Given the description of an element on the screen output the (x, y) to click on. 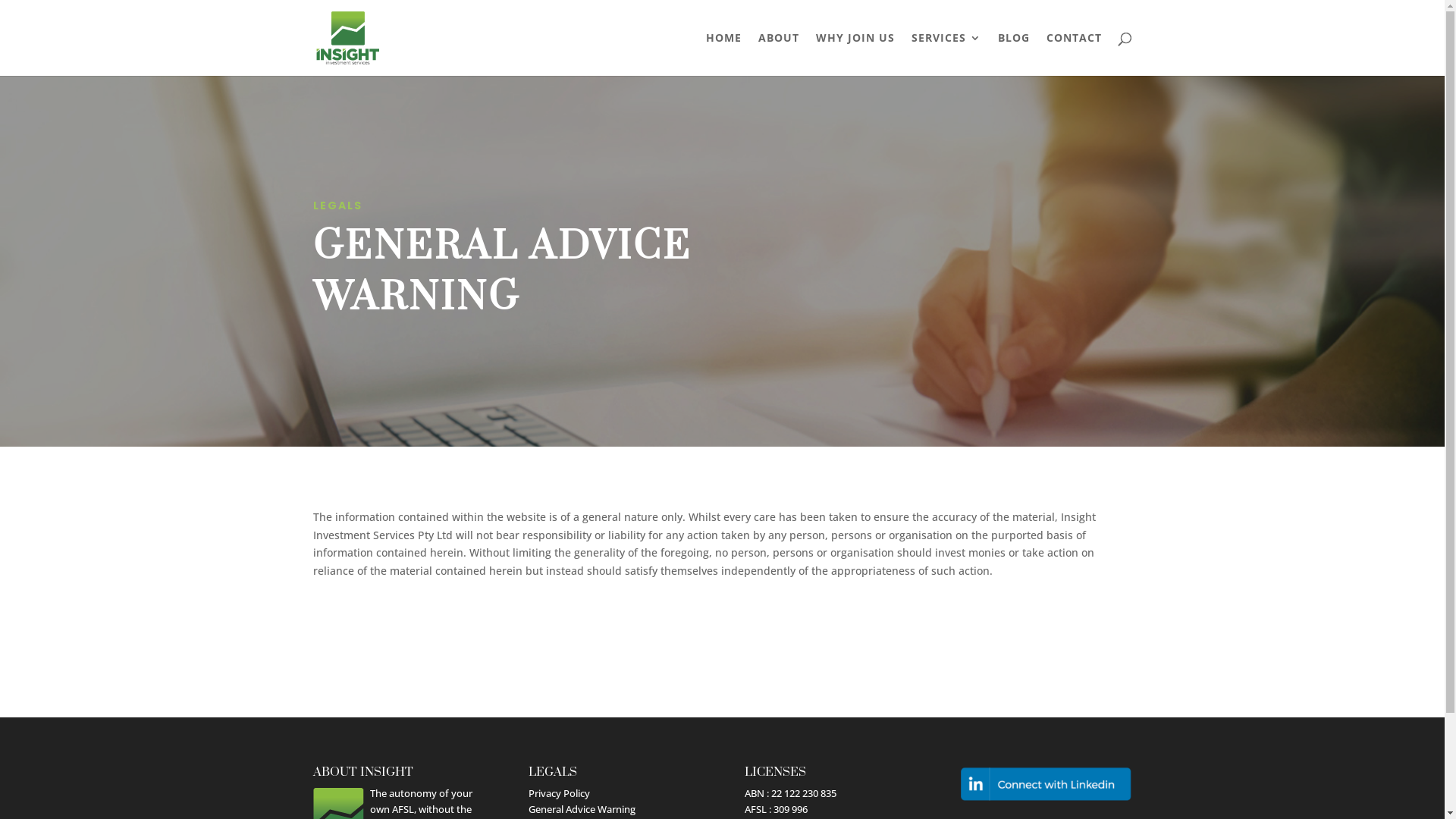
HOME Element type: text (722, 53)
CONTACT Element type: text (1073, 53)
Privacy Policy Element type: text (558, 793)
BLOG Element type: text (1013, 53)
SERVICES Element type: text (946, 53)
ABOUT Element type: text (778, 53)
General Advice Warning Element type: text (581, 808)
WHY JOIN US Element type: text (854, 53)
